Given the description of an element on the screen output the (x, y) to click on. 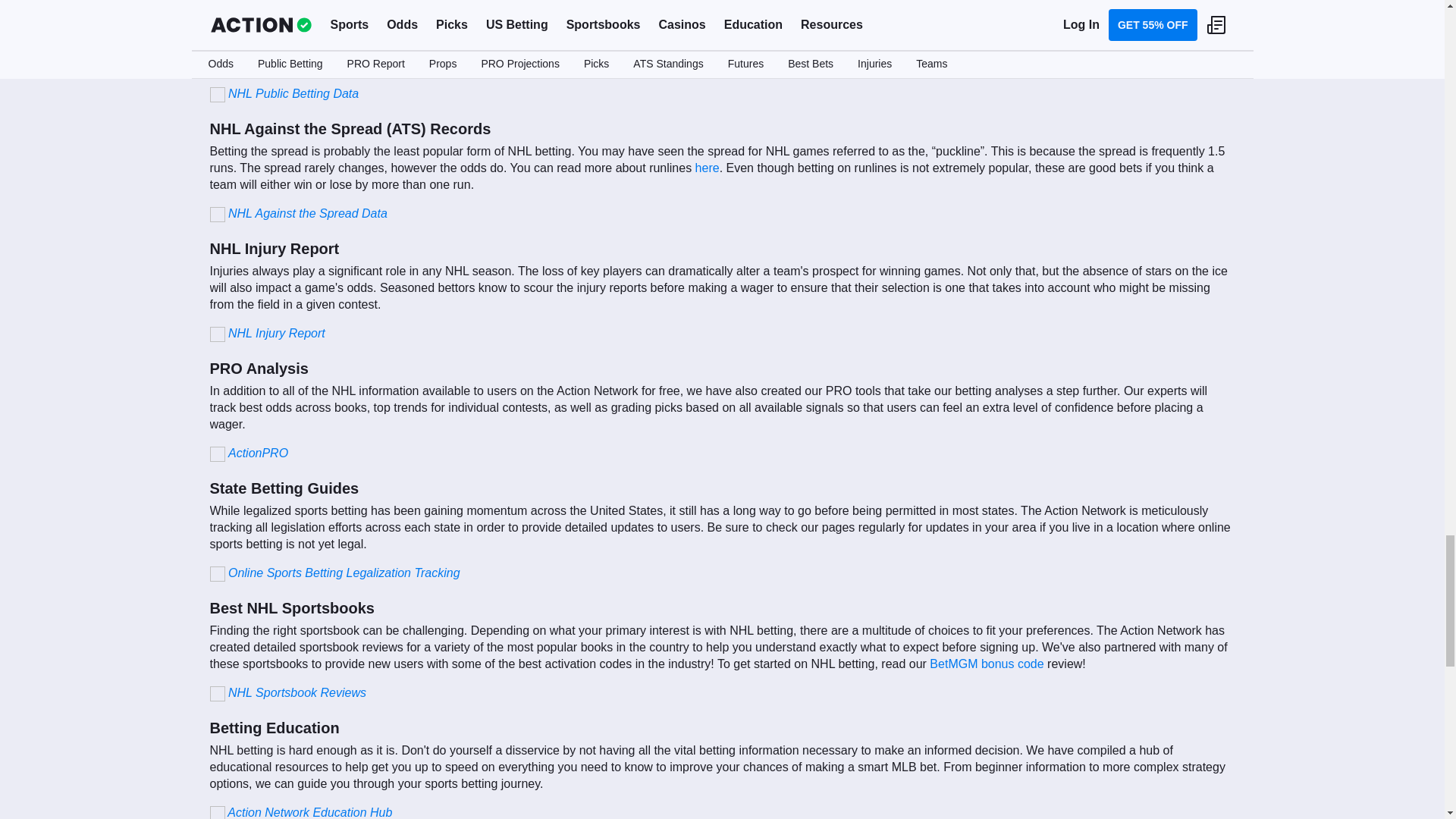
BetMGM bonus code review (986, 663)
